Given the description of an element on the screen output the (x, y) to click on. 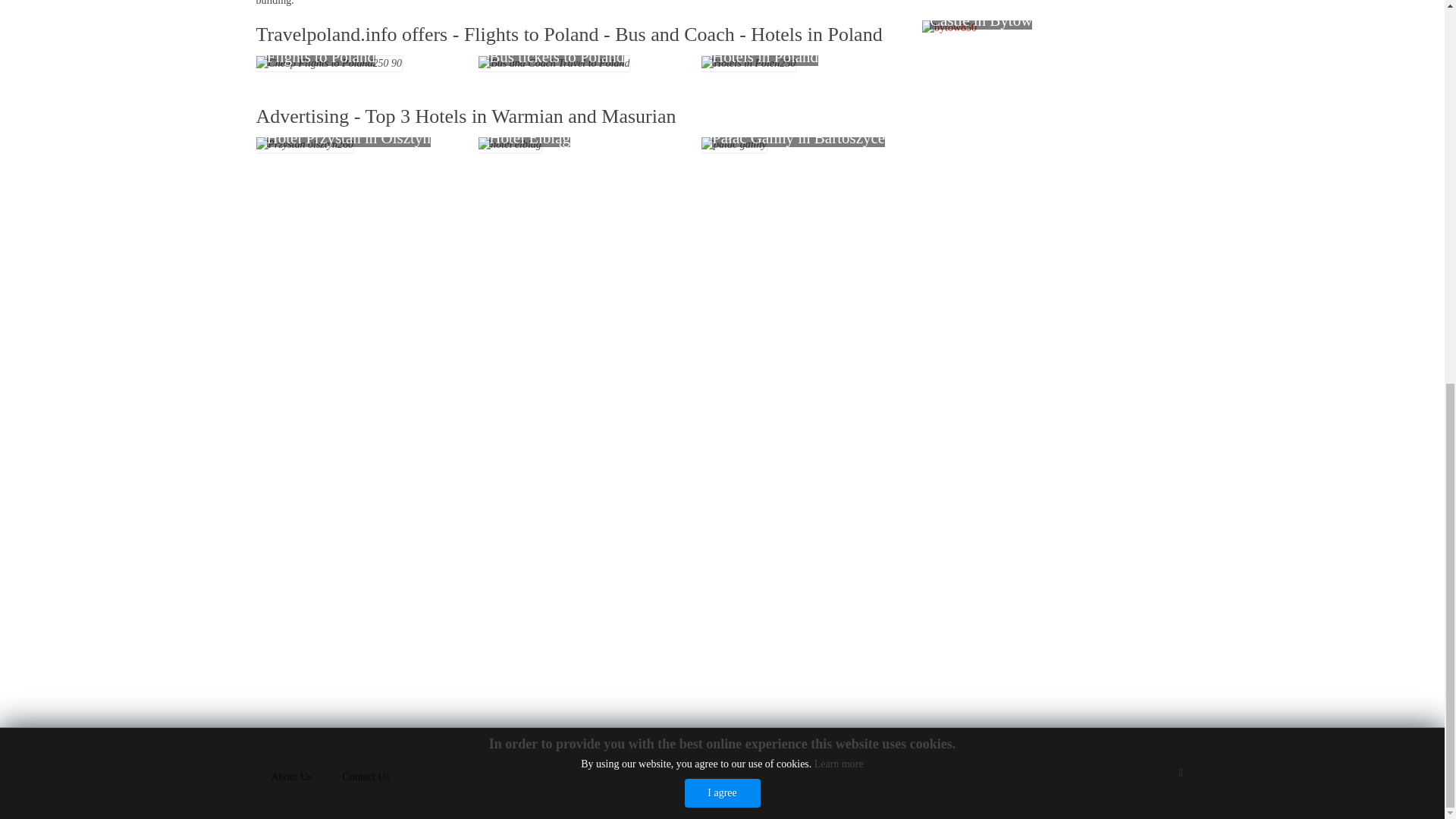
Bus tickets to Poland (553, 63)
Hotels in Poland (747, 63)
Flights to Poland (329, 63)
